Given the description of an element on the screen output the (x, y) to click on. 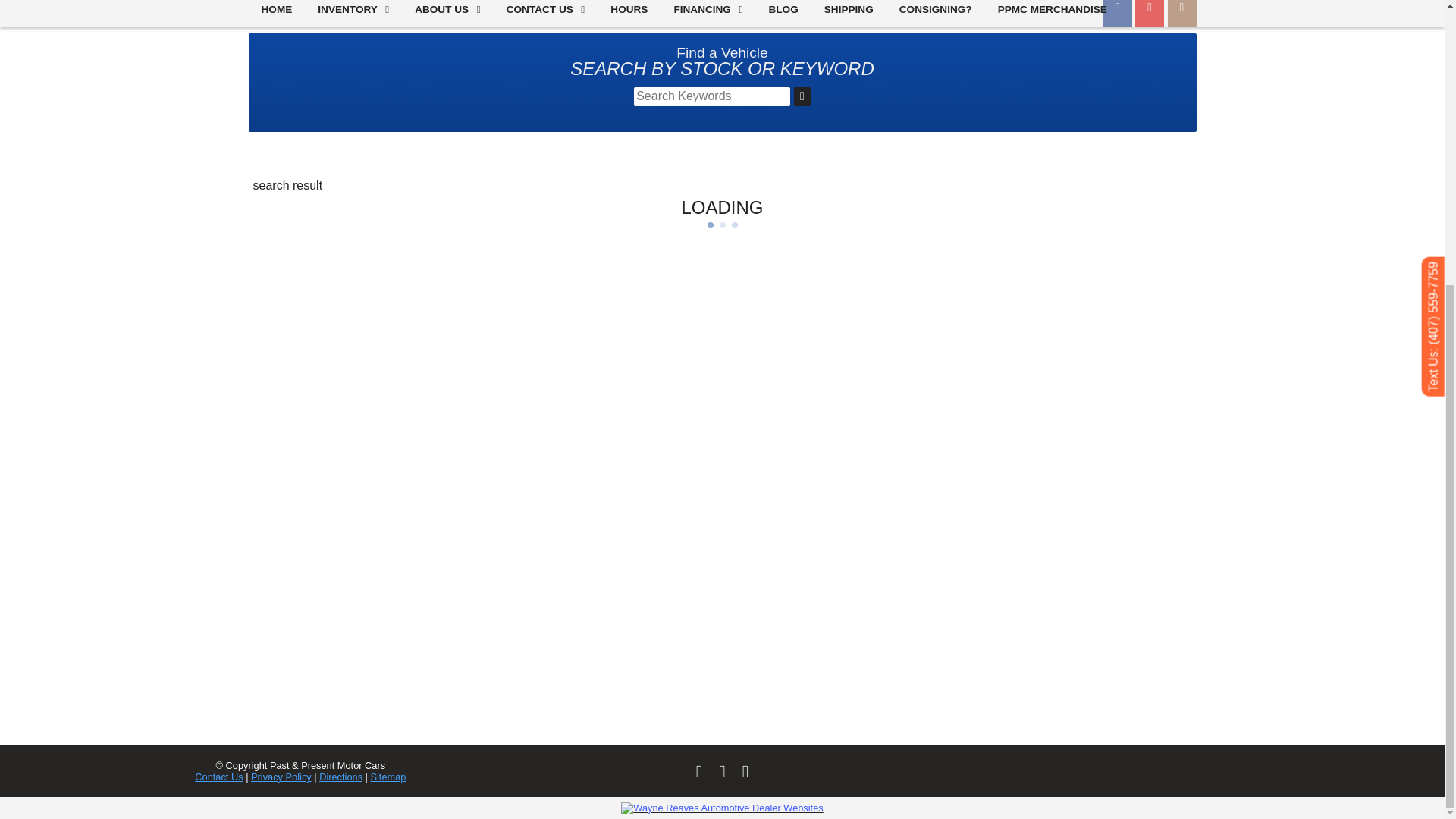
HOURS (628, 9)
HOME (276, 9)
FINANCING (707, 9)
ABOUT US (447, 9)
INVENTORY (352, 9)
Wayne Reaves Automotive Dealer Websites (721, 808)
CONTACT US (545, 9)
